Given the description of an element on the screen output the (x, y) to click on. 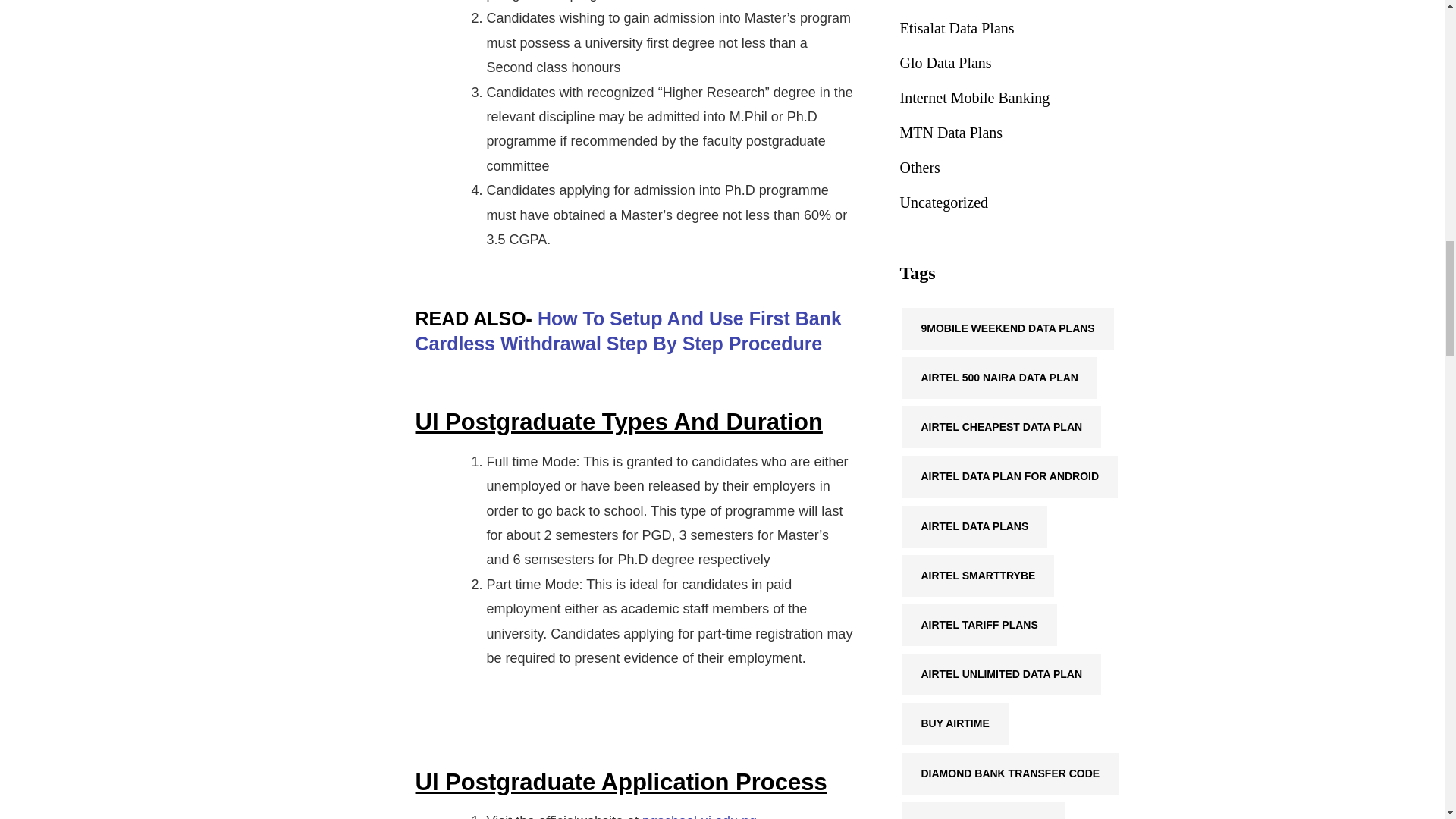
pgschool.ui.edu.ng (699, 816)
